Given the description of an element on the screen output the (x, y) to click on. 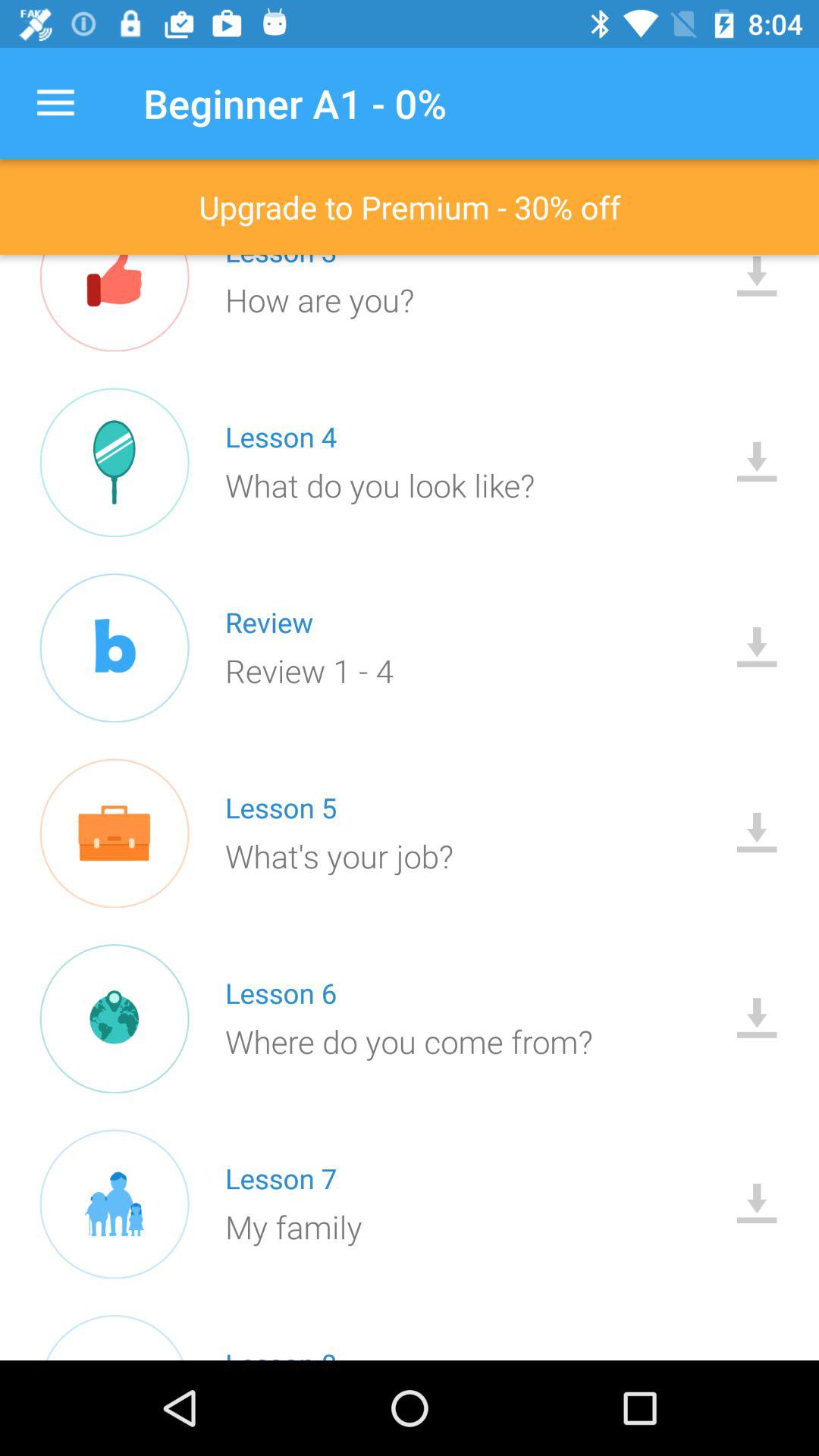
click upgrade to premium (409, 206)
